Given the description of an element on the screen output the (x, y) to click on. 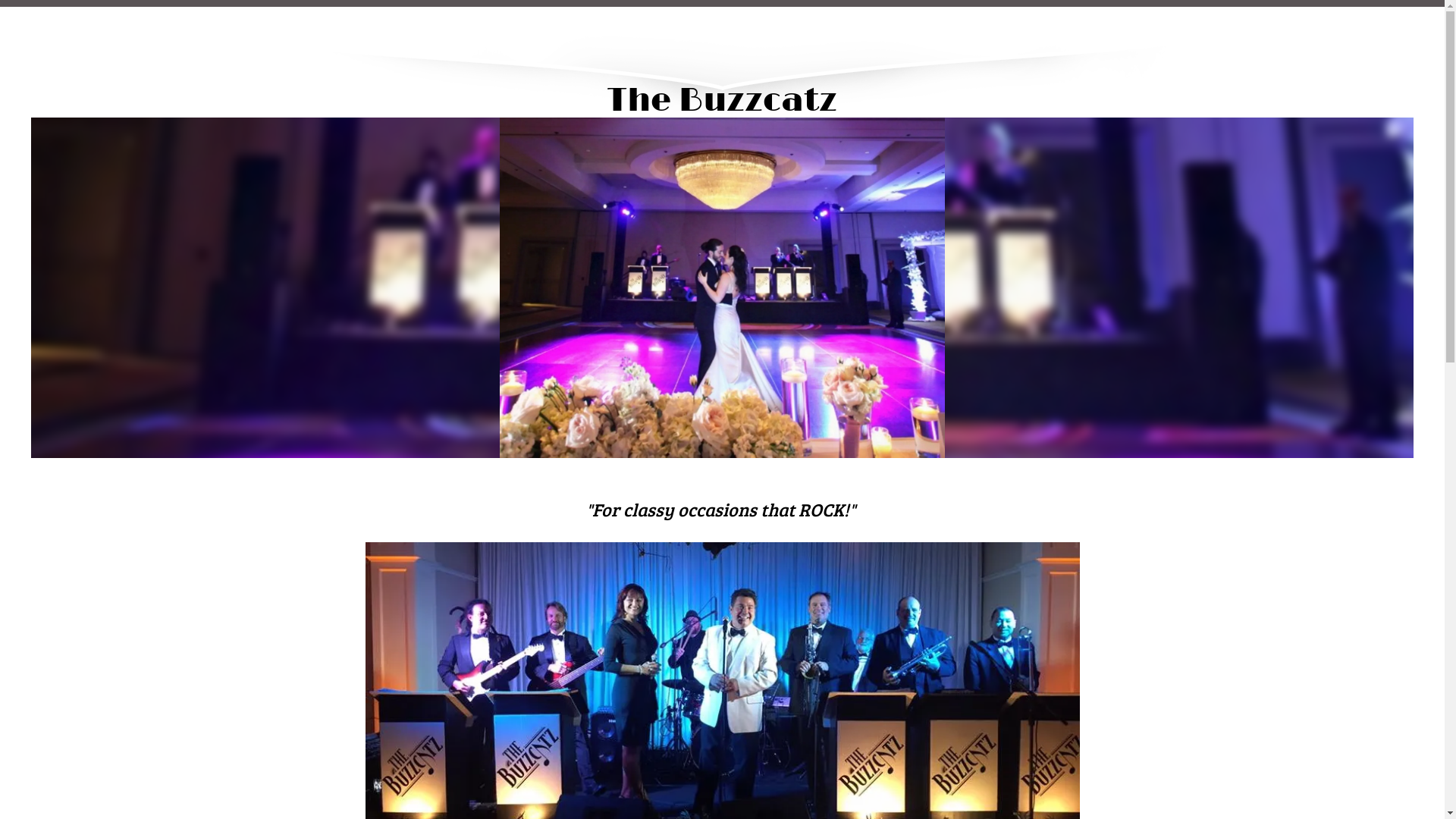
The Buzzcatz Element type: text (721, 52)
